Given the description of an element on the screen output the (x, y) to click on. 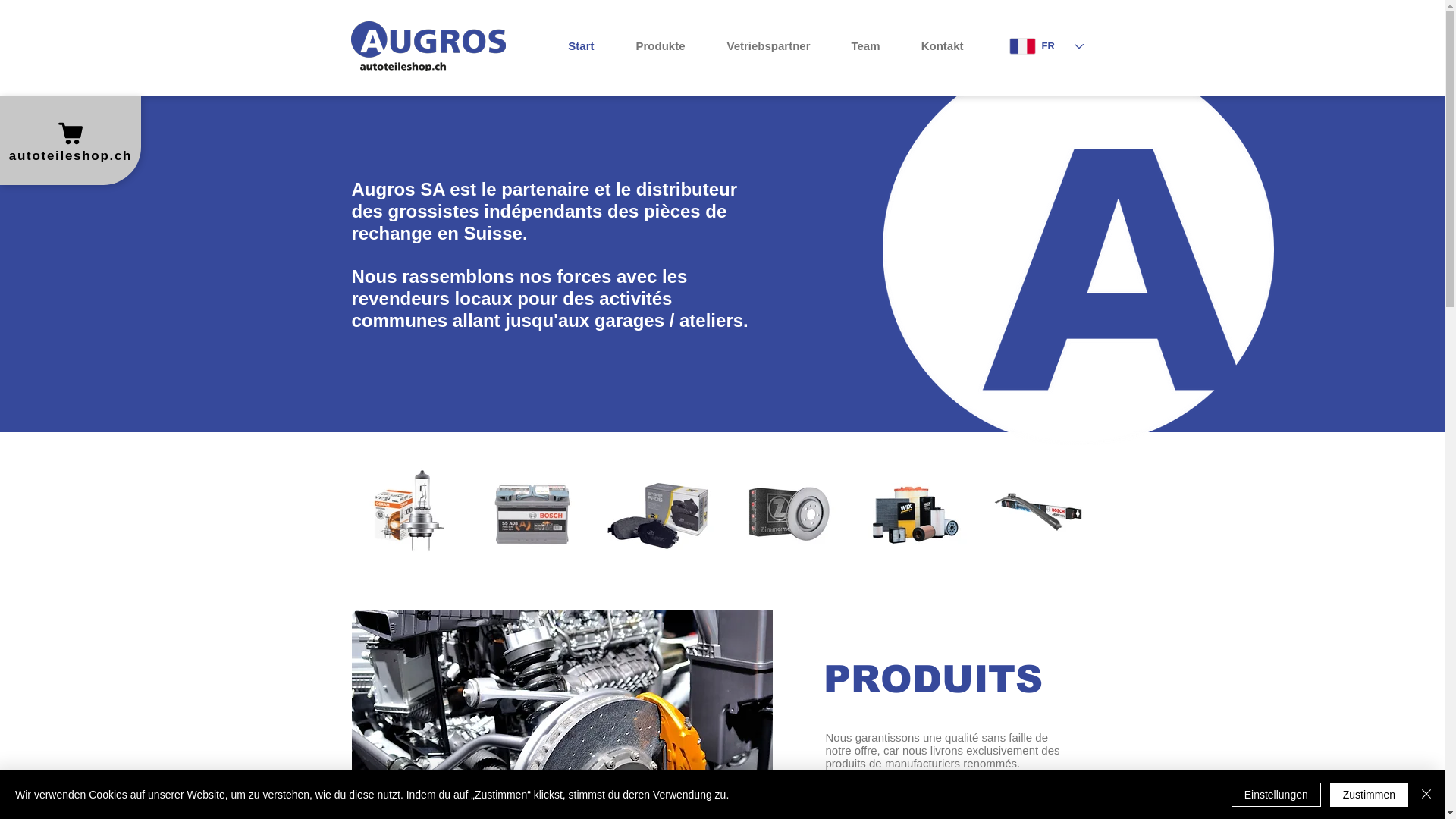
Vetriebspartner Element type: text (758, 45)
Kontakt Element type: text (933, 45)
Produkte Element type: text (650, 45)
autoteileshop.ch Element type: text (70, 140)
Einstellungen Element type: text (1276, 794)
Start Element type: text (571, 45)
Zustimmen Element type: text (1369, 794)
Team Element type: text (856, 45)
